Given the description of an element on the screen output the (x, y) to click on. 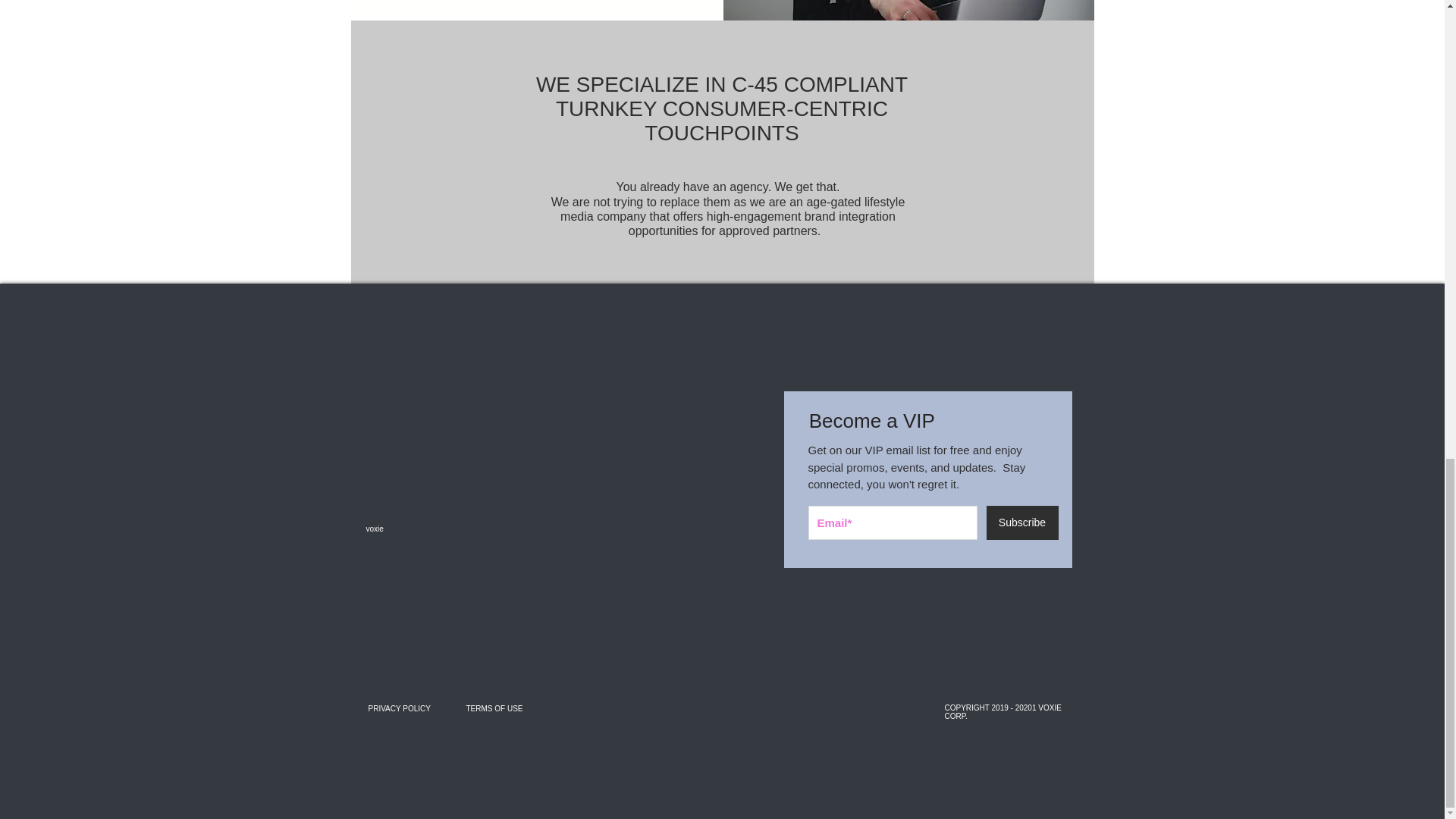
TERMS OF USE (493, 708)
voxie (419, 528)
Subscribe (1021, 522)
PRIVACY POLICY (399, 708)
